Given the description of an element on the screen output the (x, y) to click on. 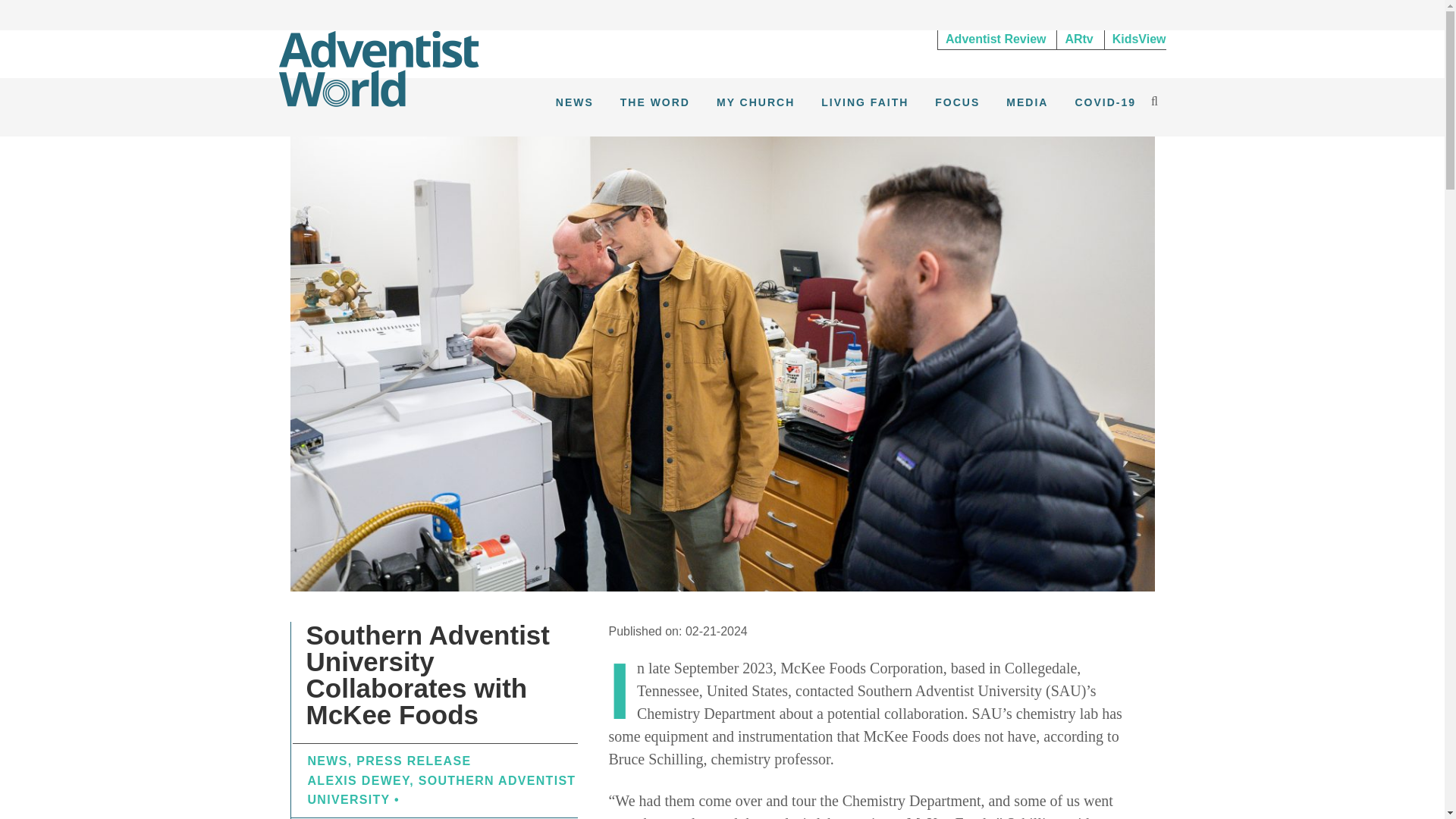
To bind together the Adventist people. (379, 67)
NEWS (327, 760)
THE WORD (654, 101)
PRESS RELEASE (413, 760)
LIVING FAITH (864, 101)
MY CHURCH (755, 101)
NEWS (574, 101)
FOCUS (957, 101)
ALEXIS DEWEY, SOUTHERN ADVENTIST UNIVERSITY (441, 789)
Adventist Review (994, 39)
KidsView (1135, 39)
MEDIA (1026, 101)
ARtv (1078, 39)
COVID-19 (1104, 101)
